Given the description of an element on the screen output the (x, y) to click on. 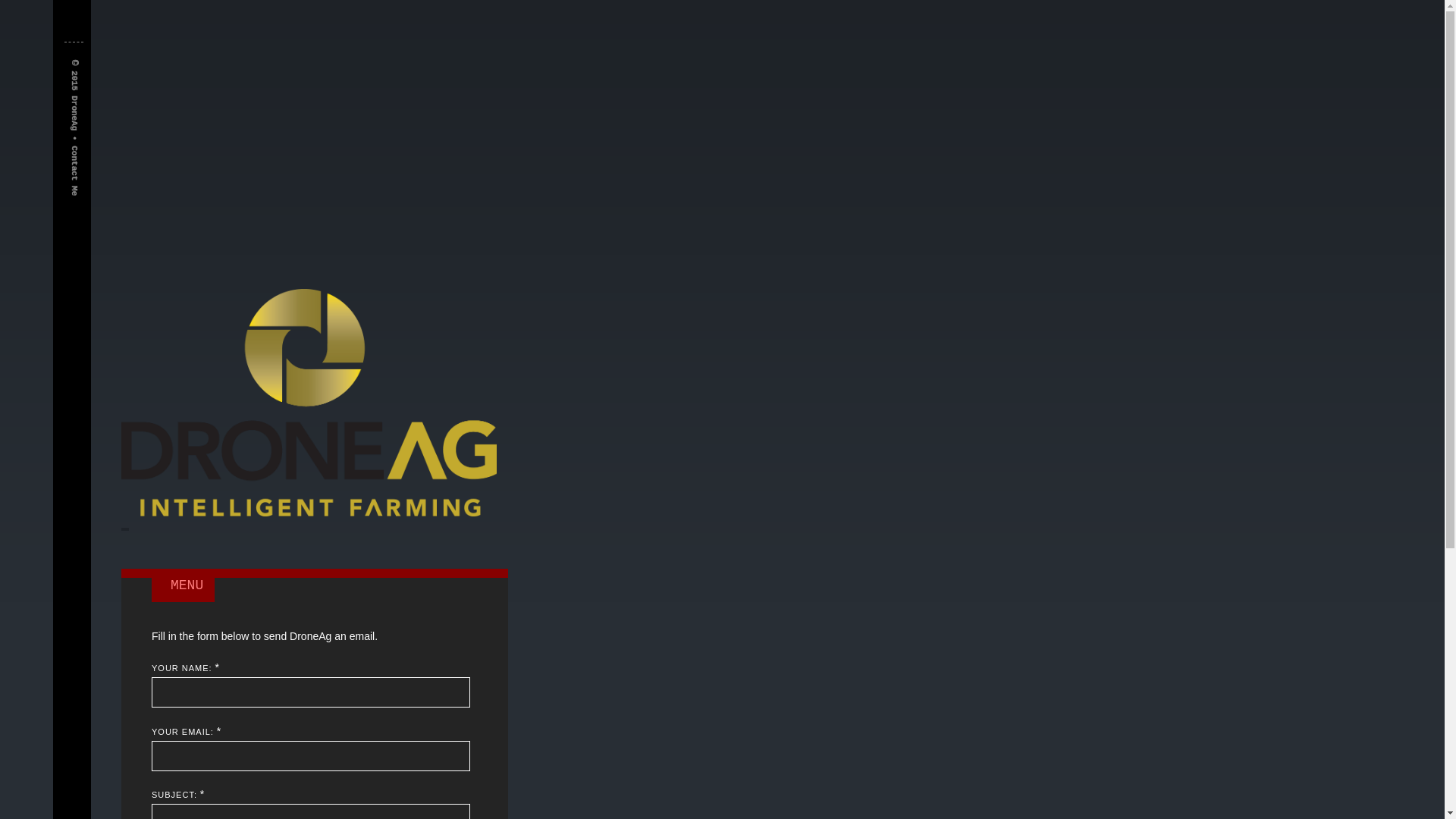
Contact Me Element type: text (99, 139)
